Given the description of an element on the screen output the (x, y) to click on. 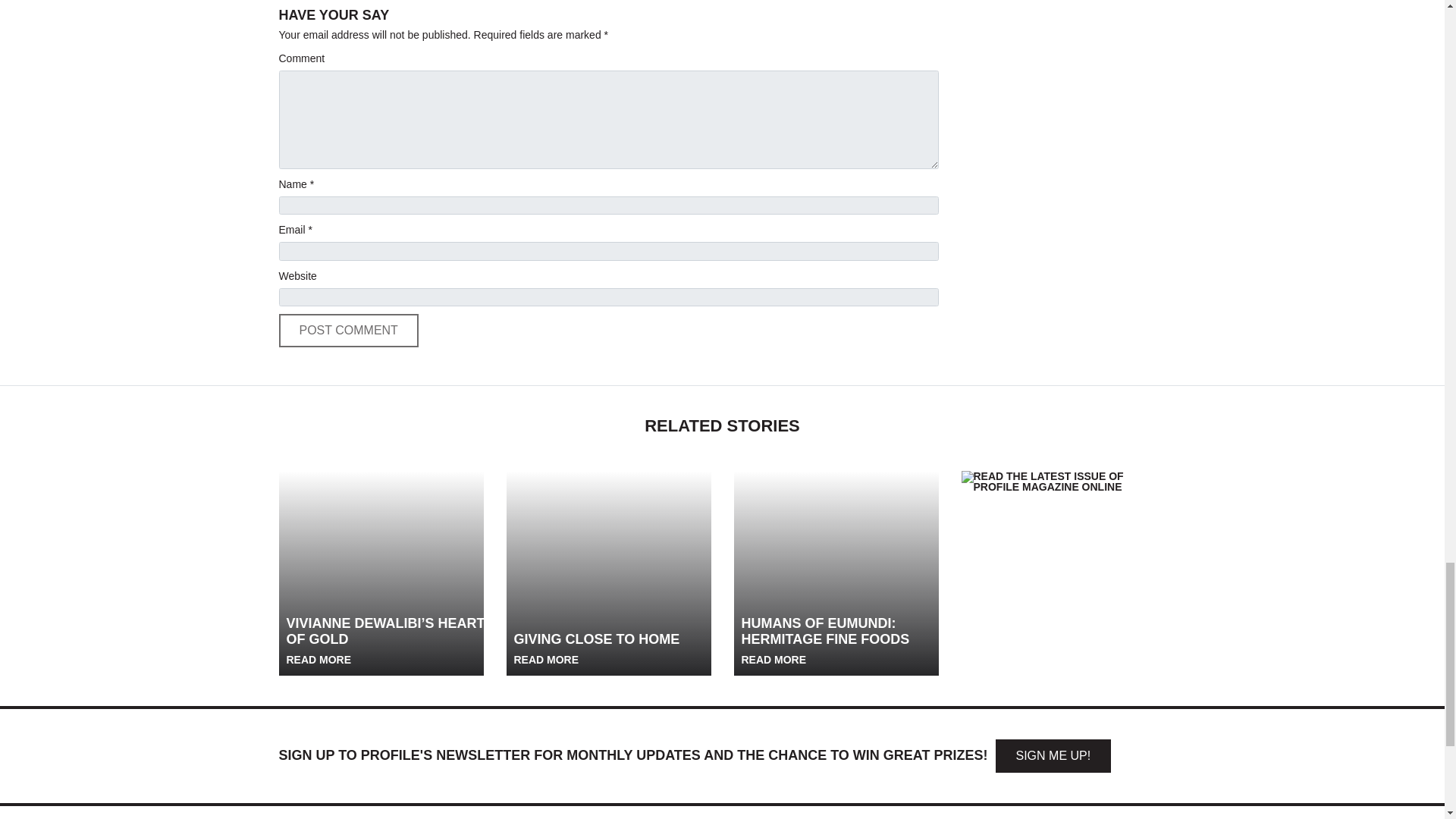
Giving Close to Home (608, 572)
READ MORE (319, 659)
GIVING CLOSE TO HOME (596, 648)
READ MORE (546, 659)
Humans of Eumundi: Hermitage Fine Foods (836, 572)
HUMANS OF EUMUNDI: HERMITAGE FINE FOODS (841, 640)
Post Comment (349, 330)
Post Comment (349, 330)
subscribe to our newsletter (1052, 756)
